Given the description of an element on the screen output the (x, y) to click on. 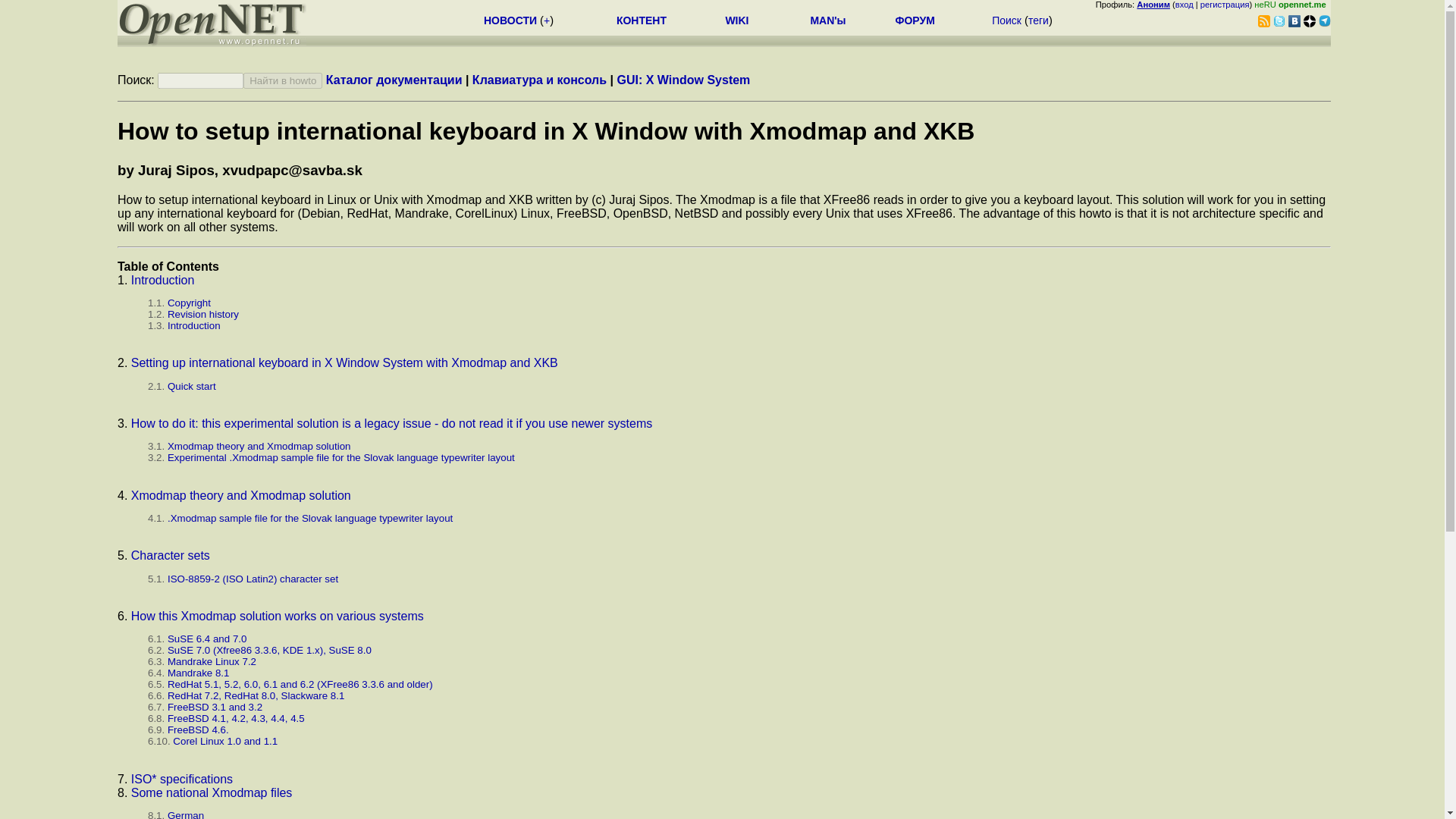
Quick start (191, 386)
Introduction (163, 279)
Telegram (1324, 21)
Twitter (1278, 21)
Revision history (202, 314)
Yandex Zen (1309, 21)
GUI: X Window System (682, 79)
Introduction (194, 325)
Xmodmap theory and Xmodmap solution (258, 446)
Xmodmap theory and Xmodmap solution (240, 495)
RSS (1263, 21)
WIKI (736, 20)
